Given the description of an element on the screen output the (x, y) to click on. 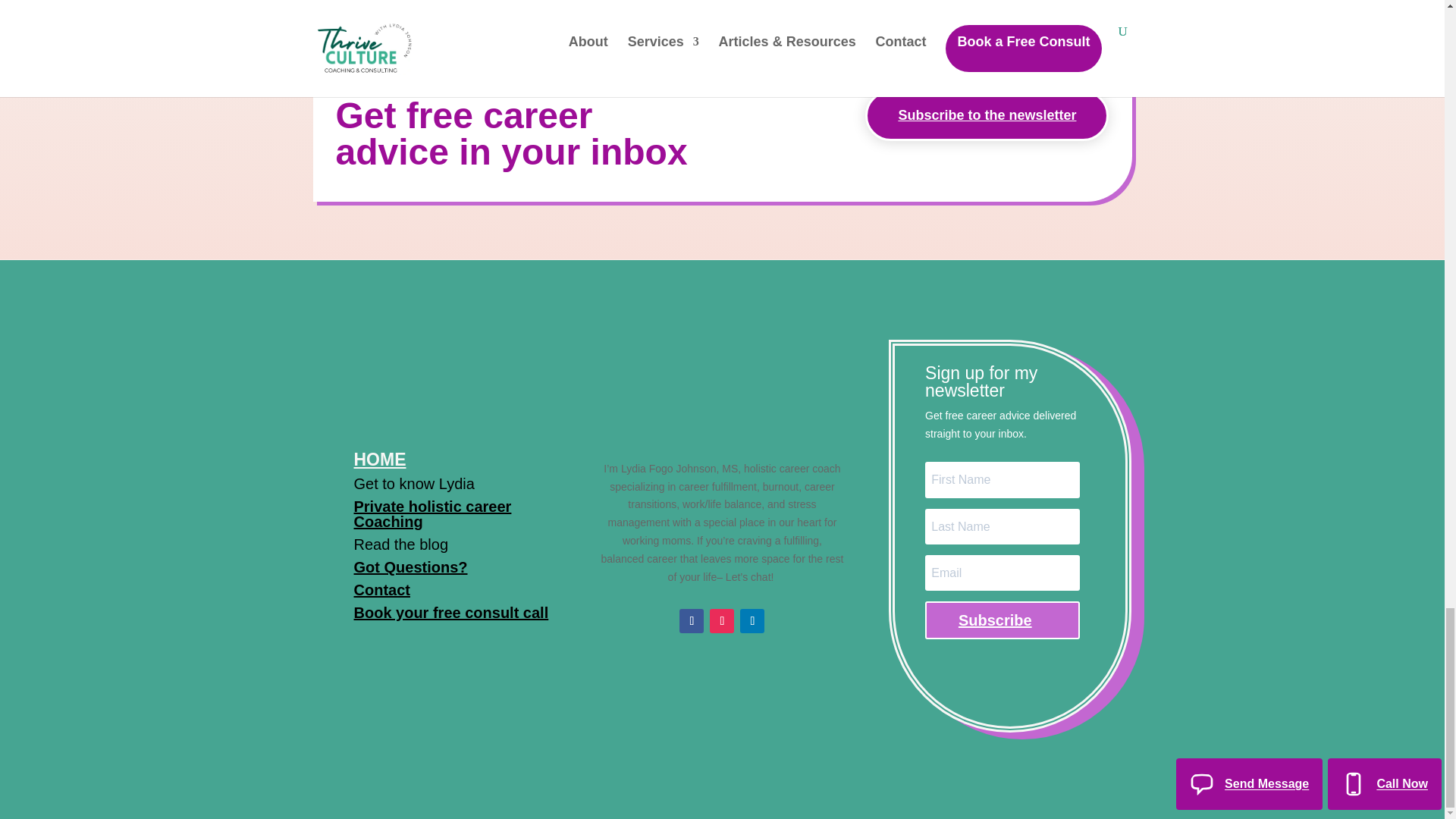
Follow on Facebook (691, 621)
Follow on Instagram (721, 621)
Follow on LinkedIn (751, 621)
